Given the description of an element on the screen output the (x, y) to click on. 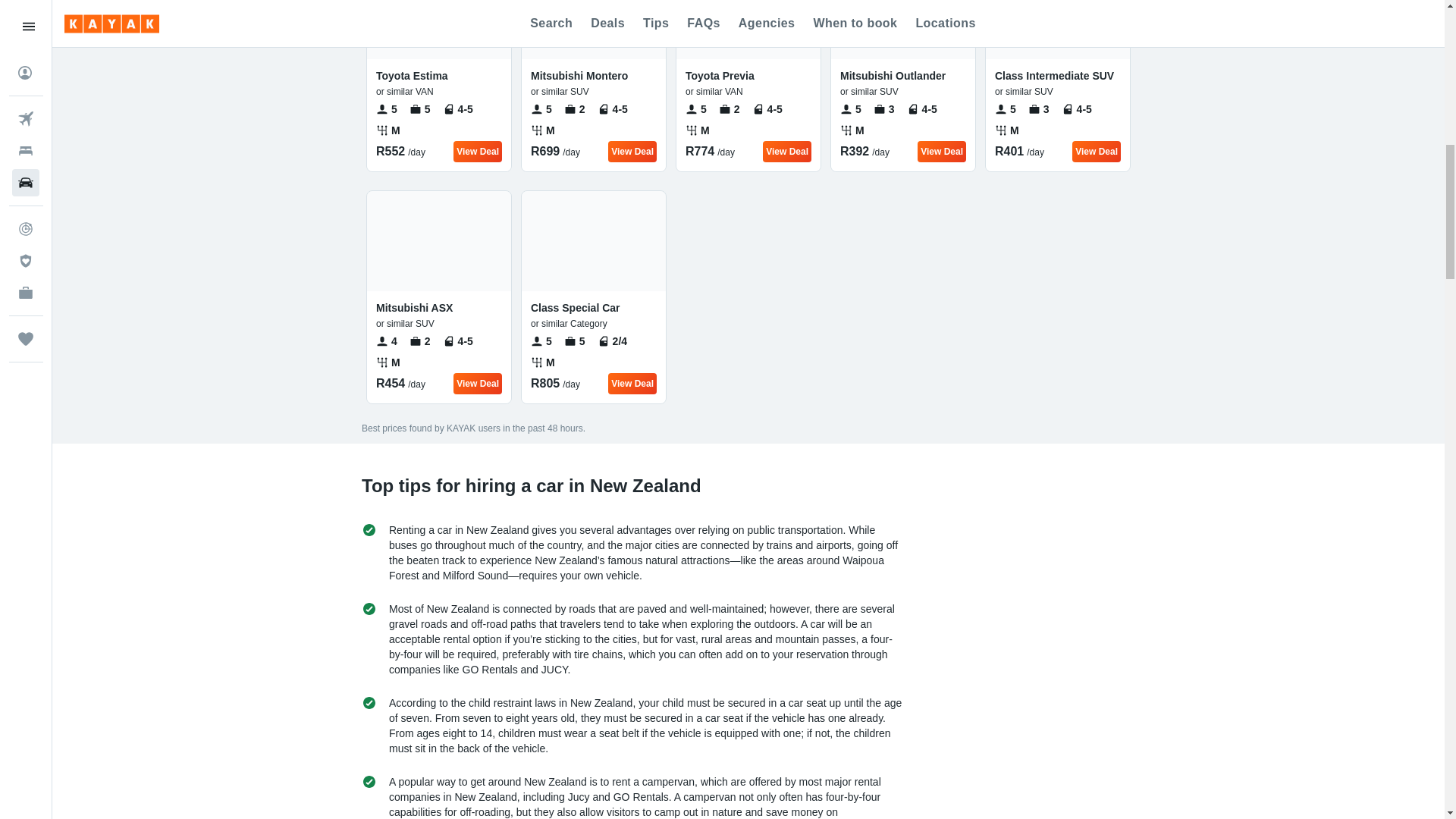
View Deal (941, 151)
View Deal (632, 383)
View Deal (477, 151)
View Deal (632, 151)
View Deal (477, 383)
View Deal (1096, 151)
View Deal (786, 151)
